Given the description of an element on the screen output the (x, y) to click on. 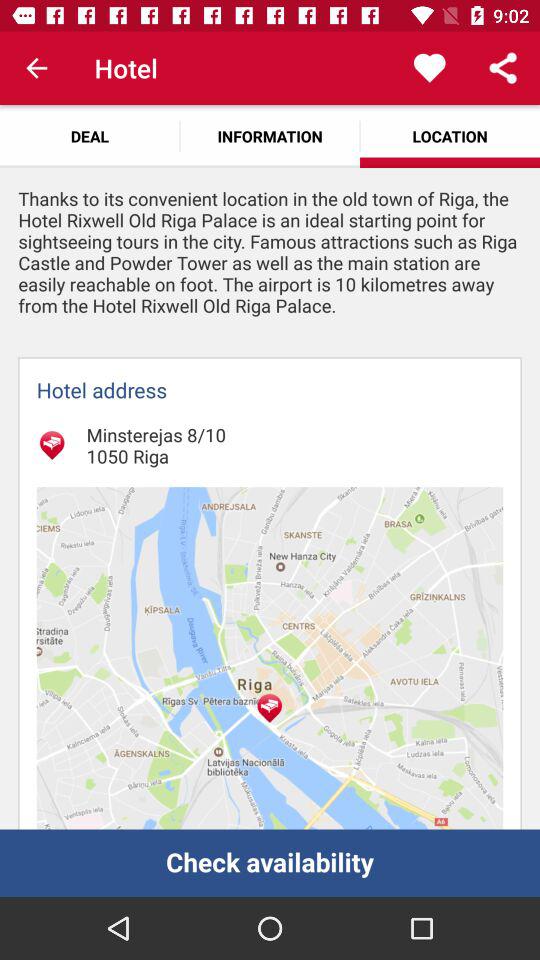
swipe to deal icon (90, 136)
